Given the description of an element on the screen output the (x, y) to click on. 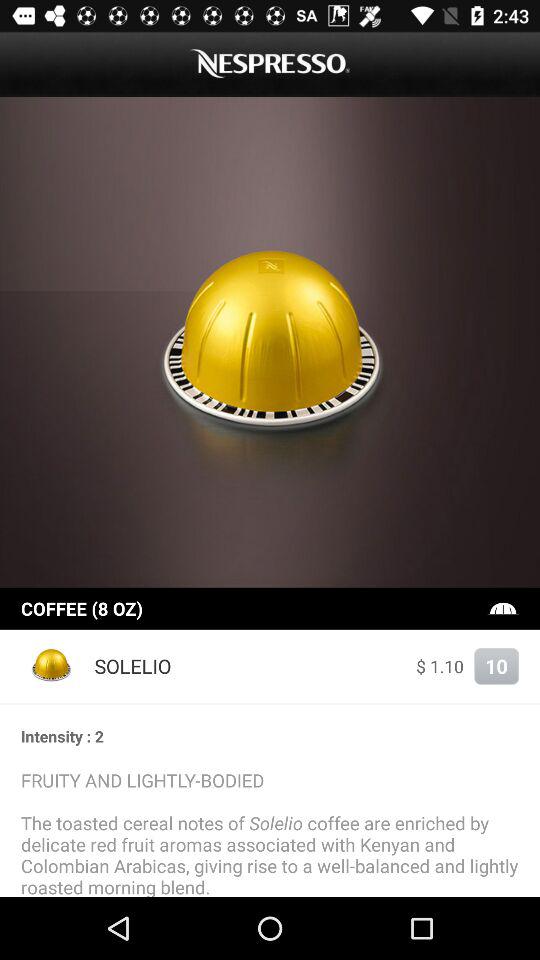
tap item below intensity : 2 icon (270, 832)
